Given the description of an element on the screen output the (x, y) to click on. 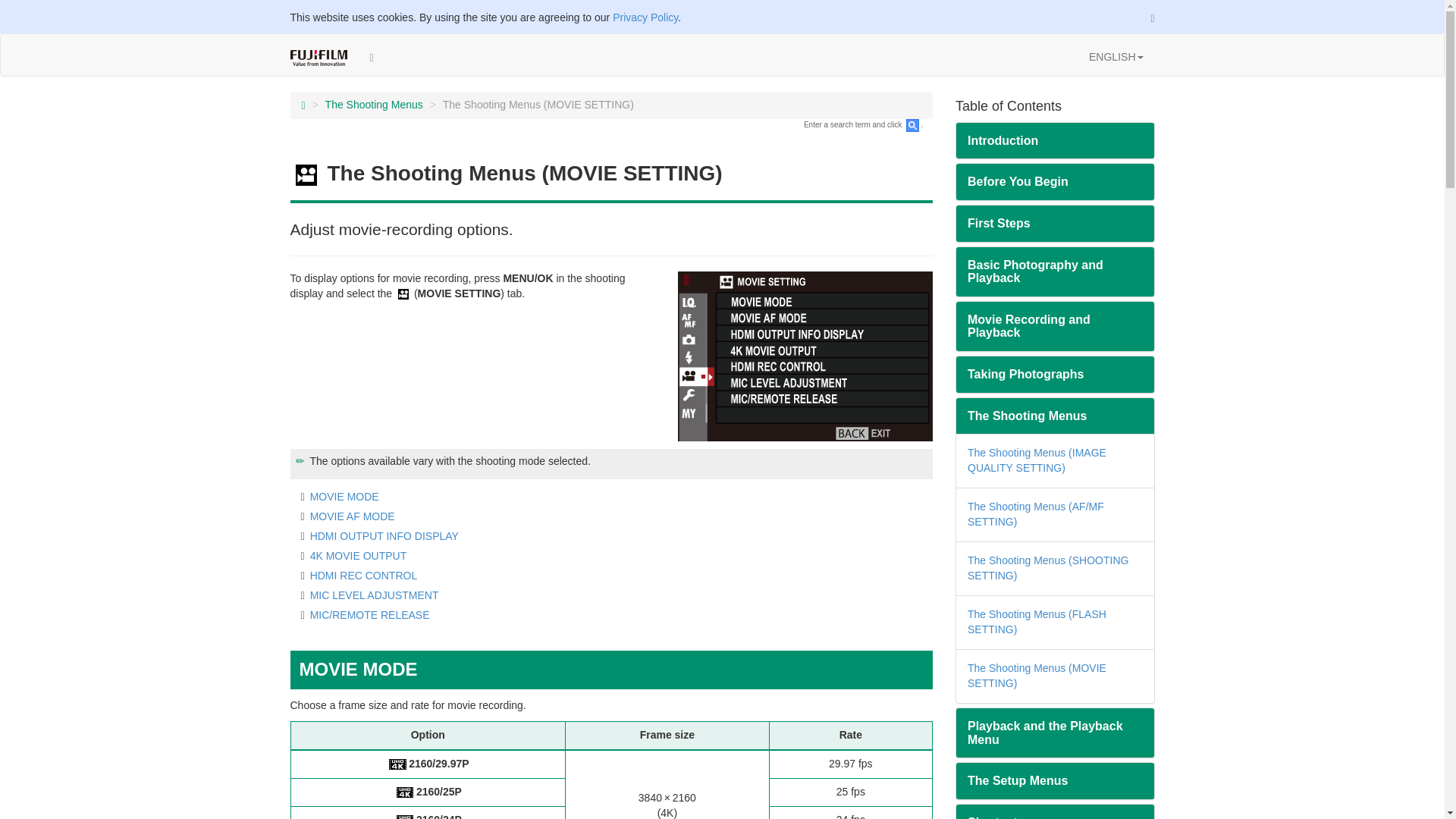
HDMI OUTPUT INFO DISPLAY (384, 535)
Before You Begin (1055, 181)
MIC LEVEL ADJUSTMENT (374, 594)
HDMI REC CONTROL (363, 575)
Basic Photography and Playback (1055, 271)
ENGLISH (1115, 56)
First Steps (1055, 223)
4K MOVIE OUTPUT (358, 555)
MOVIE MODE (344, 496)
The Shooting Menus (373, 104)
MOVIE AF MODE (352, 516)
Introduction (1055, 140)
Privacy Policy (645, 17)
